Given the description of an element on the screen output the (x, y) to click on. 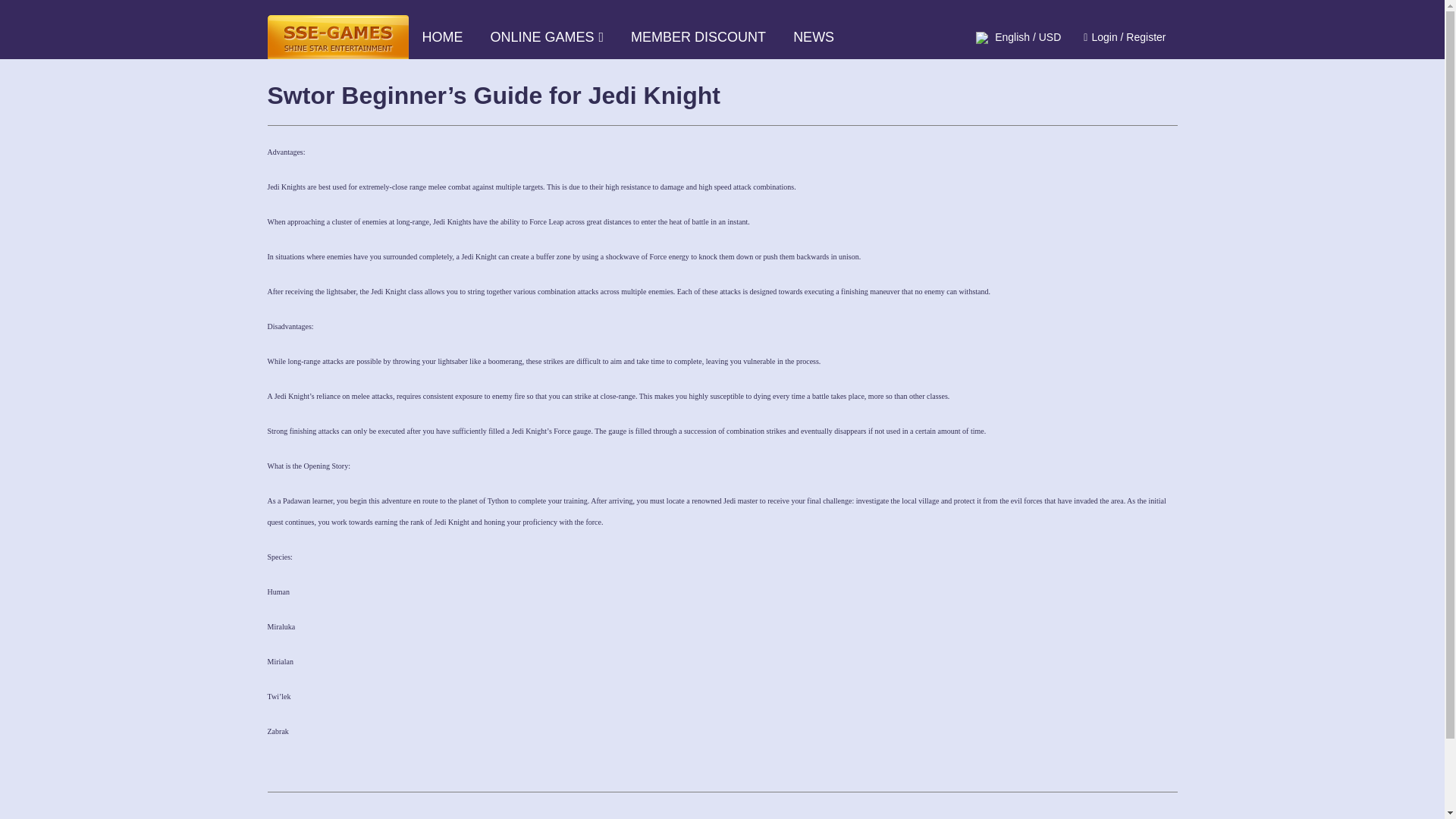
HOME (441, 37)
Register (1145, 37)
NEWS (812, 37)
MEMBER DISCOUNT (697, 37)
Login (1103, 37)
